Given the description of an element on the screen output the (x, y) to click on. 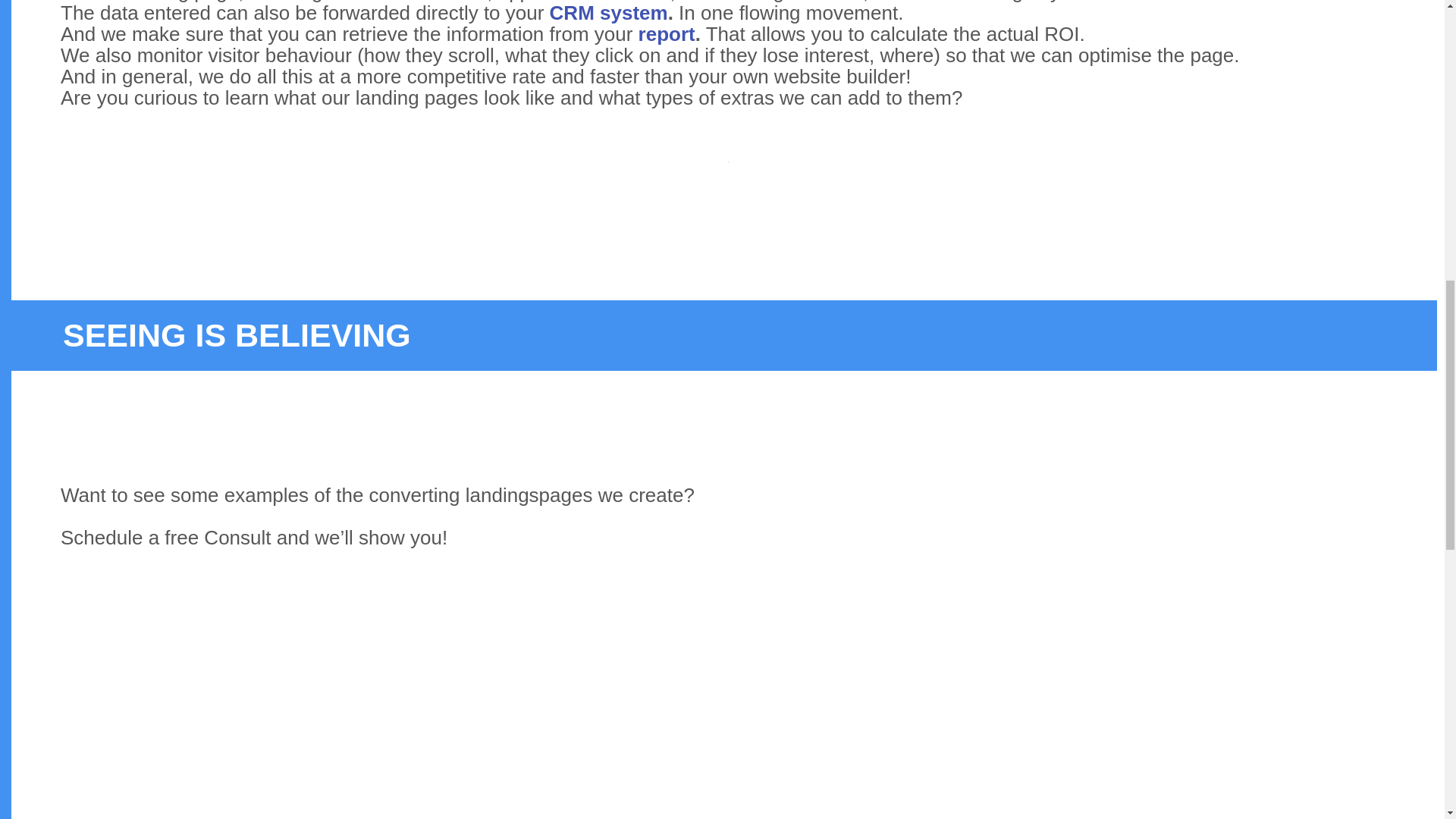
CRM system (609, 12)
REPORTING AND DASHBOARDS for LinkedIn Campaigns (667, 33)
report (667, 33)
